Given the description of an element on the screen output the (x, y) to click on. 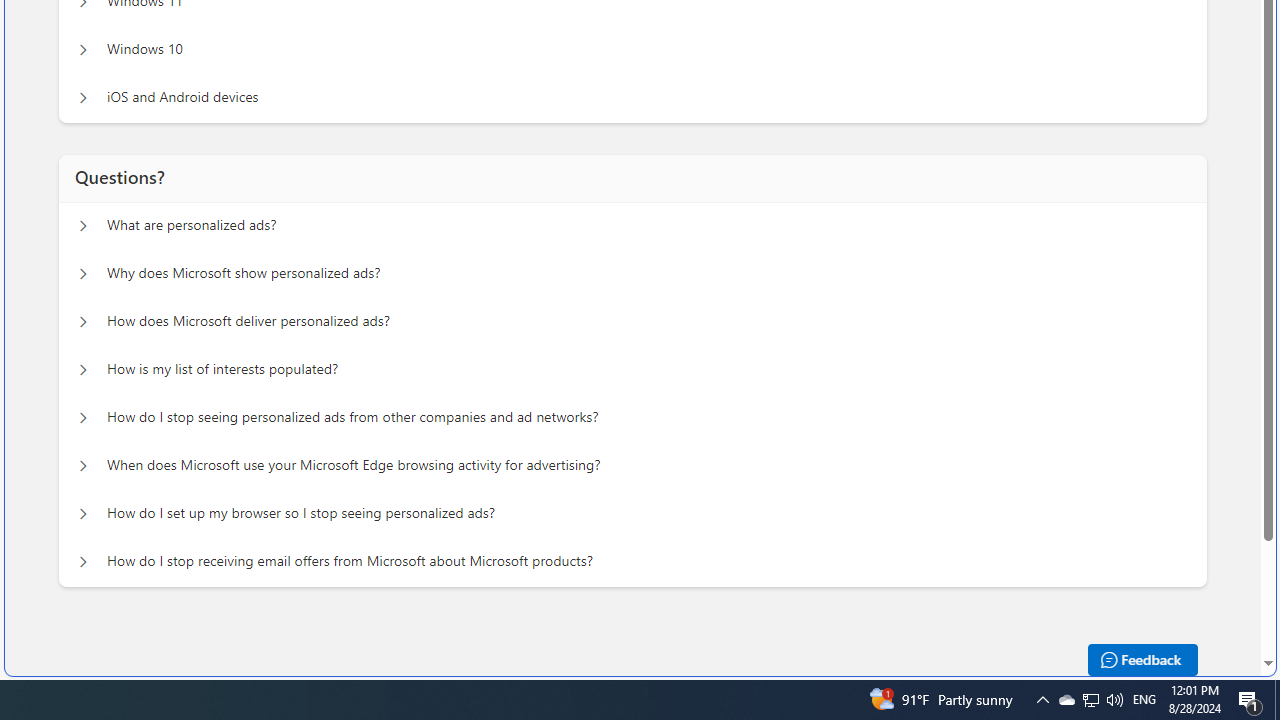
Questions? How is my list of interests populated? (82, 370)
Questions? What are personalized ads? (82, 226)
Manage personalized ads on your device Windows 10 (82, 49)
Questions? How does Microsoft deliver personalized ads? (82, 322)
Questions? Why does Microsoft show personalized ads? (82, 273)
